Given the description of an element on the screen output the (x, y) to click on. 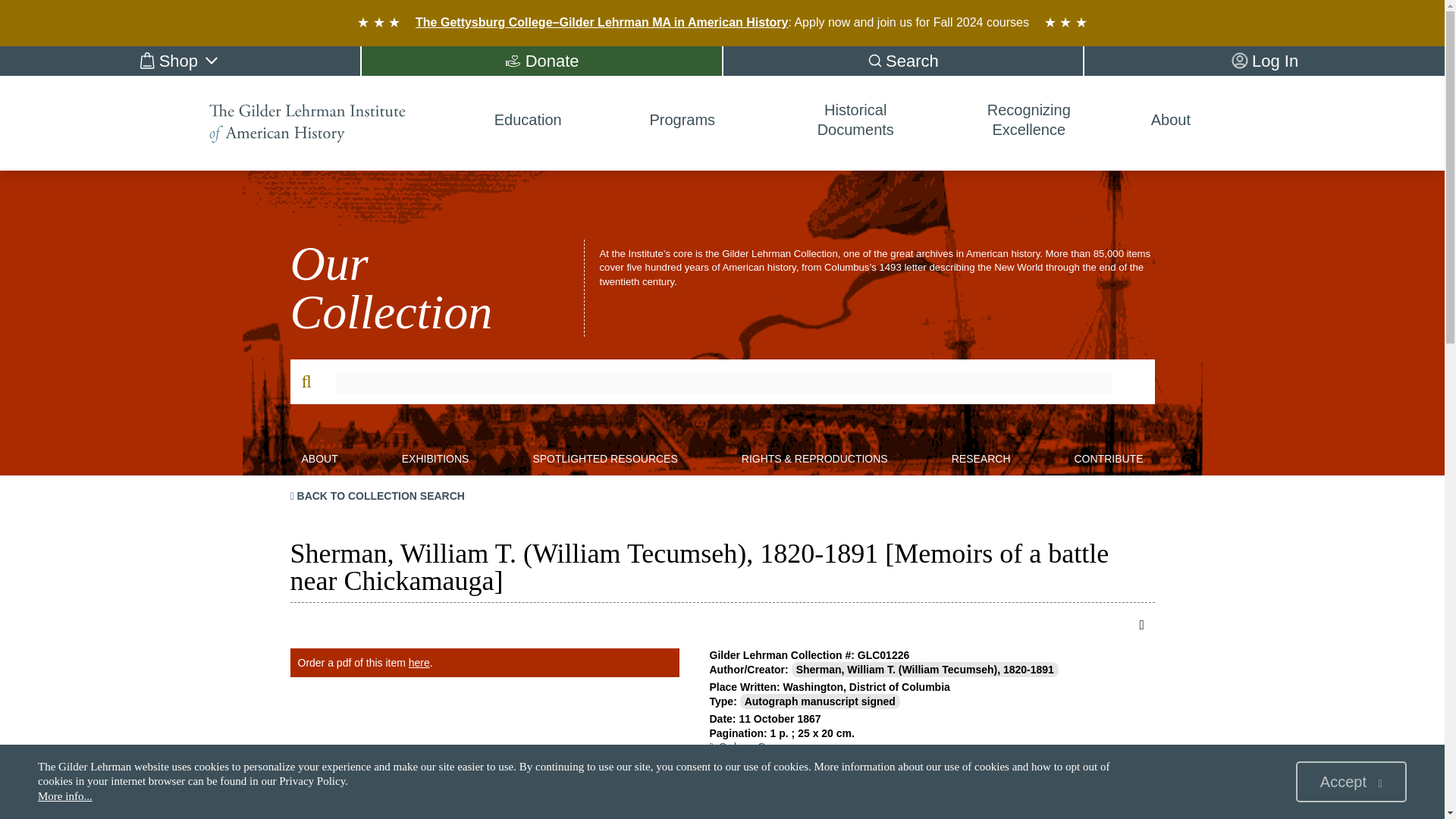
Search (903, 60)
The Gilder Lehrman Institute of American History (308, 122)
Shop (179, 60)
The Gilder Lehrman Institute of American History (319, 123)
Donate (541, 60)
